Given the description of an element on the screen output the (x, y) to click on. 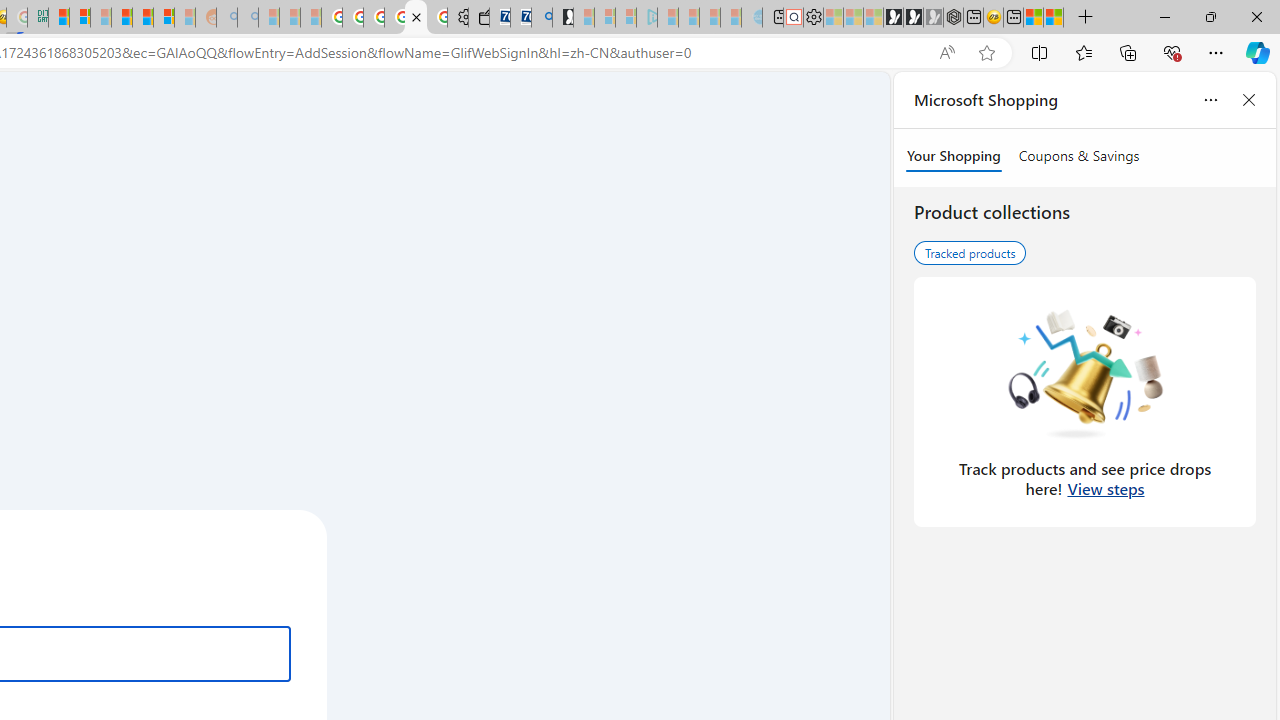
Expert Portfolios (121, 17)
Wildlife - MSN (1033, 17)
